Given the description of an element on the screen output the (x, y) to click on. 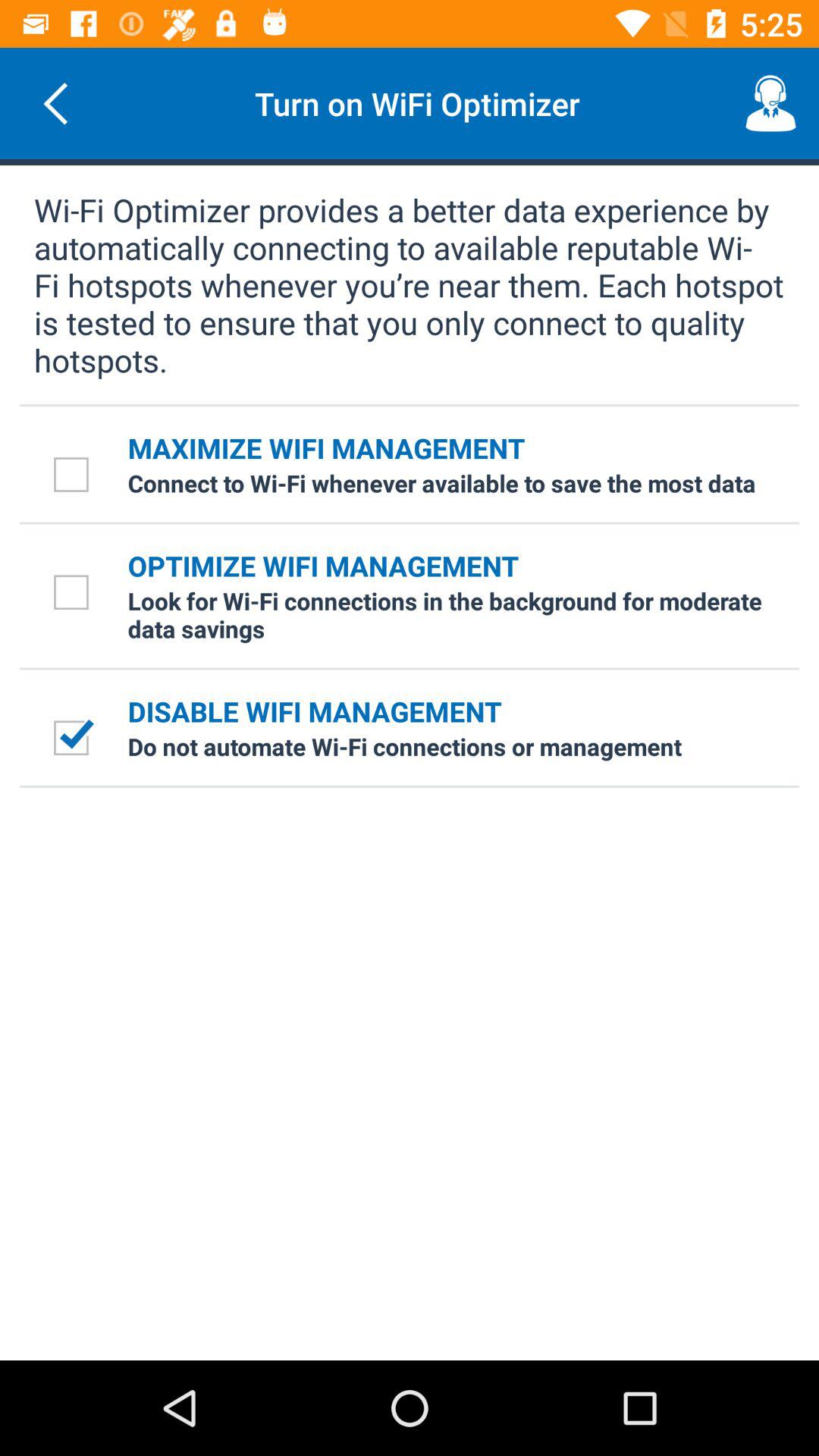
press the icon next to turn on wifi item (55, 103)
